Given the description of an element on the screen output the (x, y) to click on. 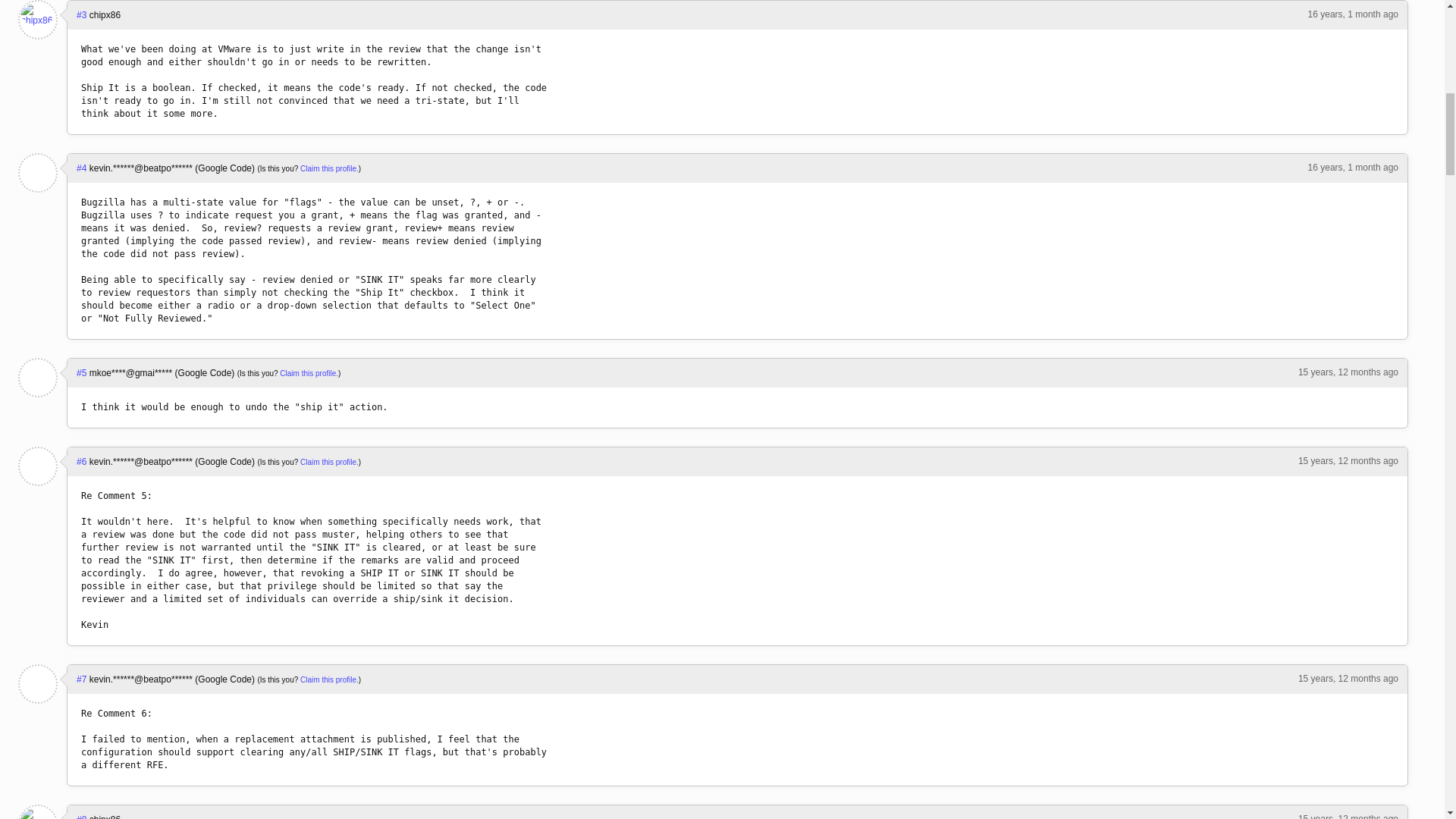
July 3, 2008, 9:26 p.m. (1352, 14)
Aug. 20, 2008, 7:10 p.m. (1347, 678)
Aug. 20, 2008, 8:40 p.m. (1347, 816)
Aug. 20, 2008, 6:28 p.m. (1347, 371)
July 3, 2008, 9:32 p.m. (1352, 167)
Aug. 20, 2008, 7:07 p.m. (1347, 460)
